Given the description of an element on the screen output the (x, y) to click on. 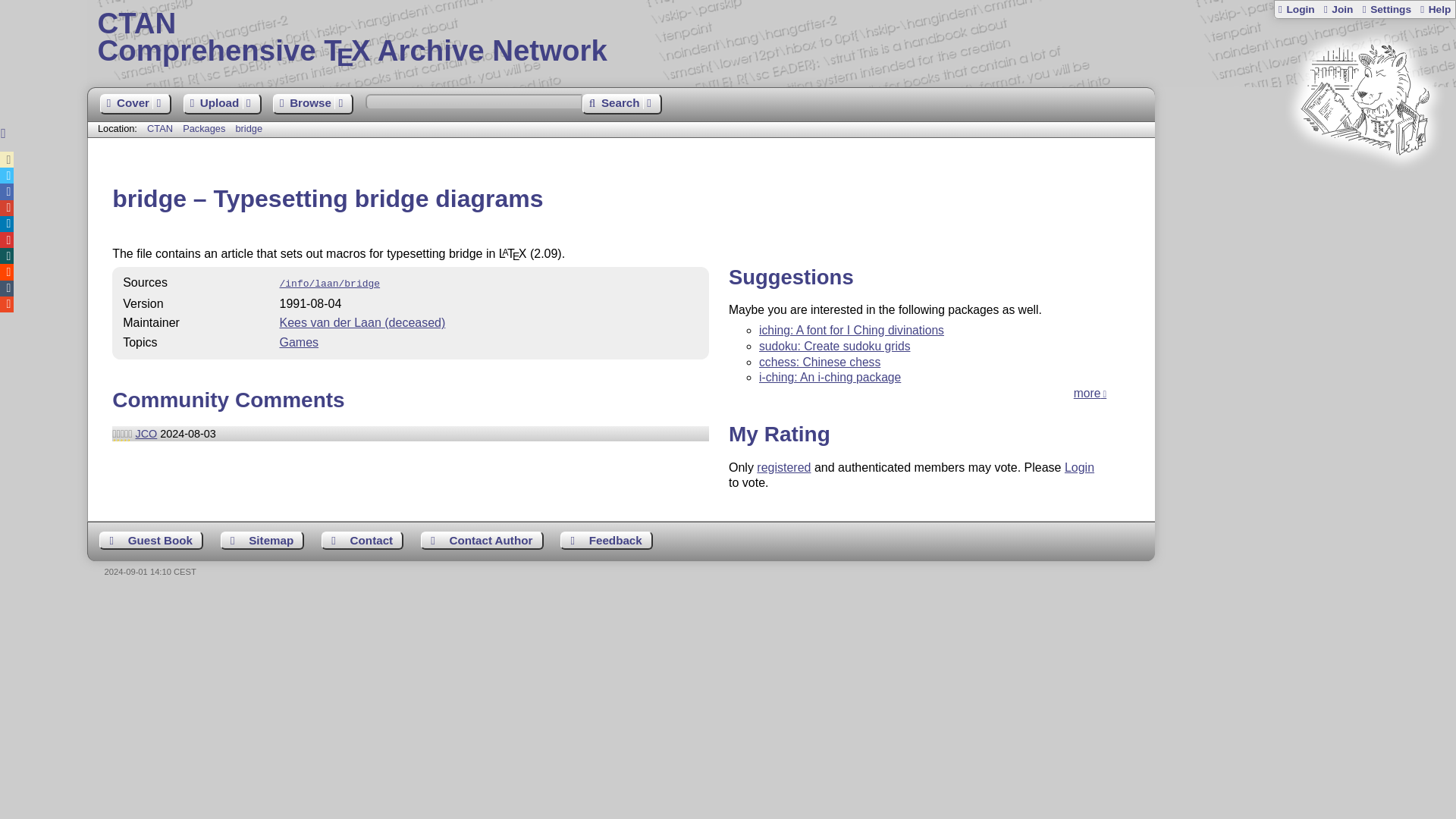
Games (298, 341)
Register a new personal account on this site (1337, 8)
Get contact information for the Web site (362, 540)
sudoku: Create sudoku grids (834, 345)
Show the structure of this site (262, 540)
Upload (771, 37)
Cover (222, 104)
Get help on how to contact an author (135, 104)
Packages (481, 540)
